Given the description of an element on the screen output the (x, y) to click on. 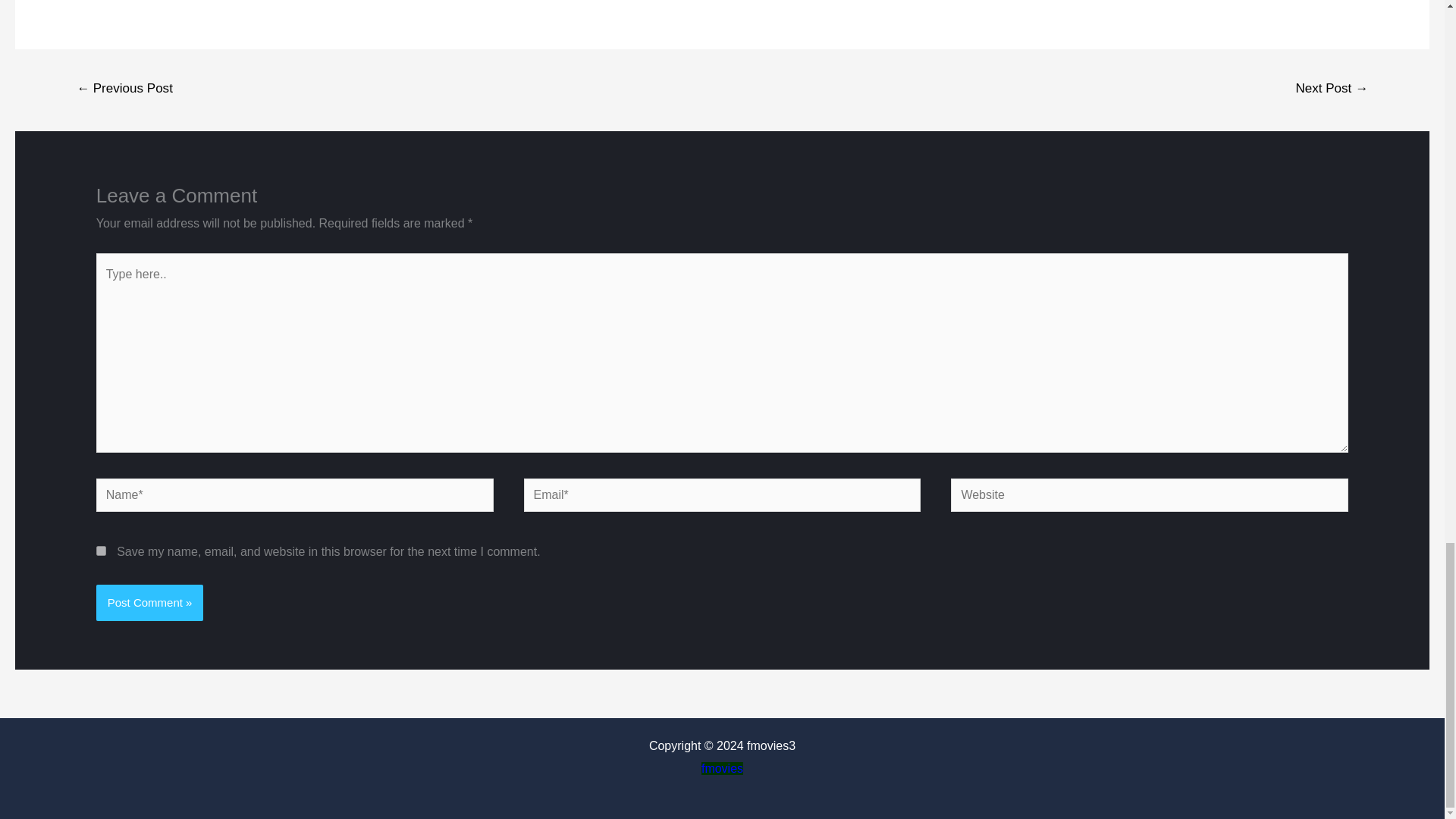
fmovies (721, 768)
yes (101, 551)
